Given the description of an element on the screen output the (x, y) to click on. 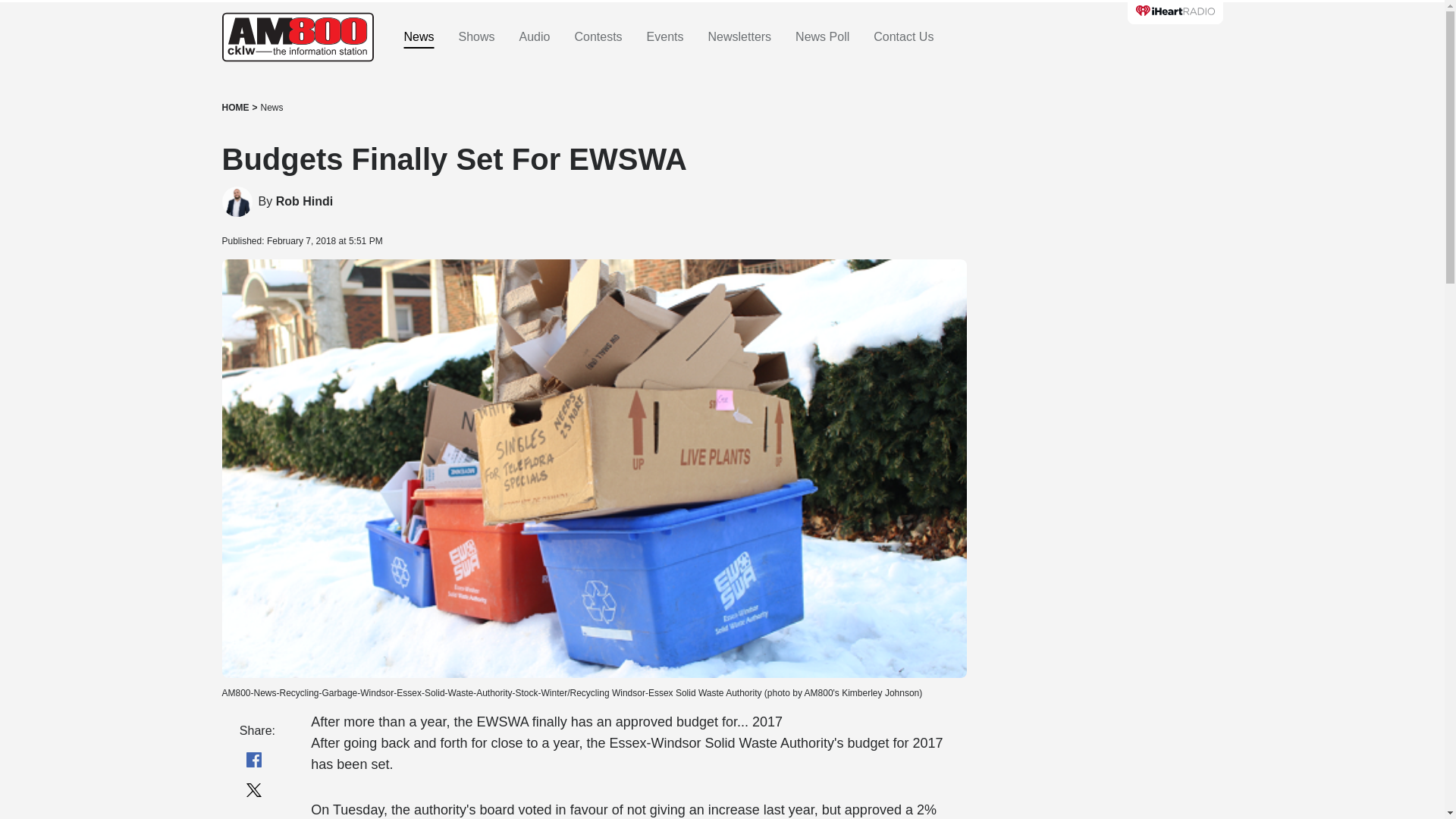
News (271, 107)
Rob Hindi (304, 201)
Rob Hindi (304, 201)
HOME (234, 107)
News Poll (821, 37)
Rob Hindi (236, 201)
Contact Us (903, 37)
Newsletters (739, 37)
Contests (597, 37)
